Given the description of an element on the screen output the (x, y) to click on. 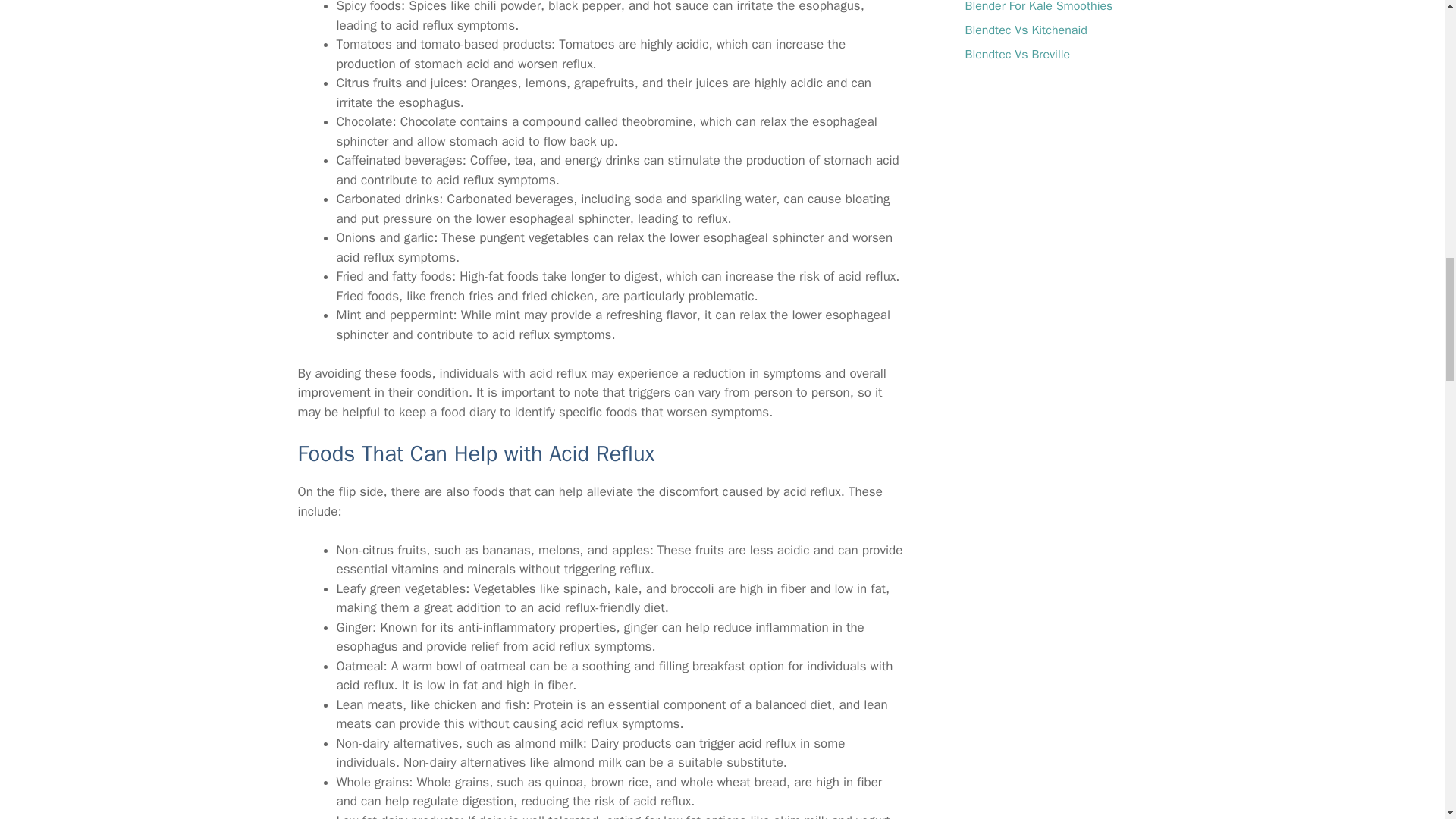
Blendtec Vs Breville (1016, 54)
Blender For Kale Smoothies (1037, 6)
Blendtec Vs Kitchenaid (1024, 29)
